Given the description of an element on the screen output the (x, y) to click on. 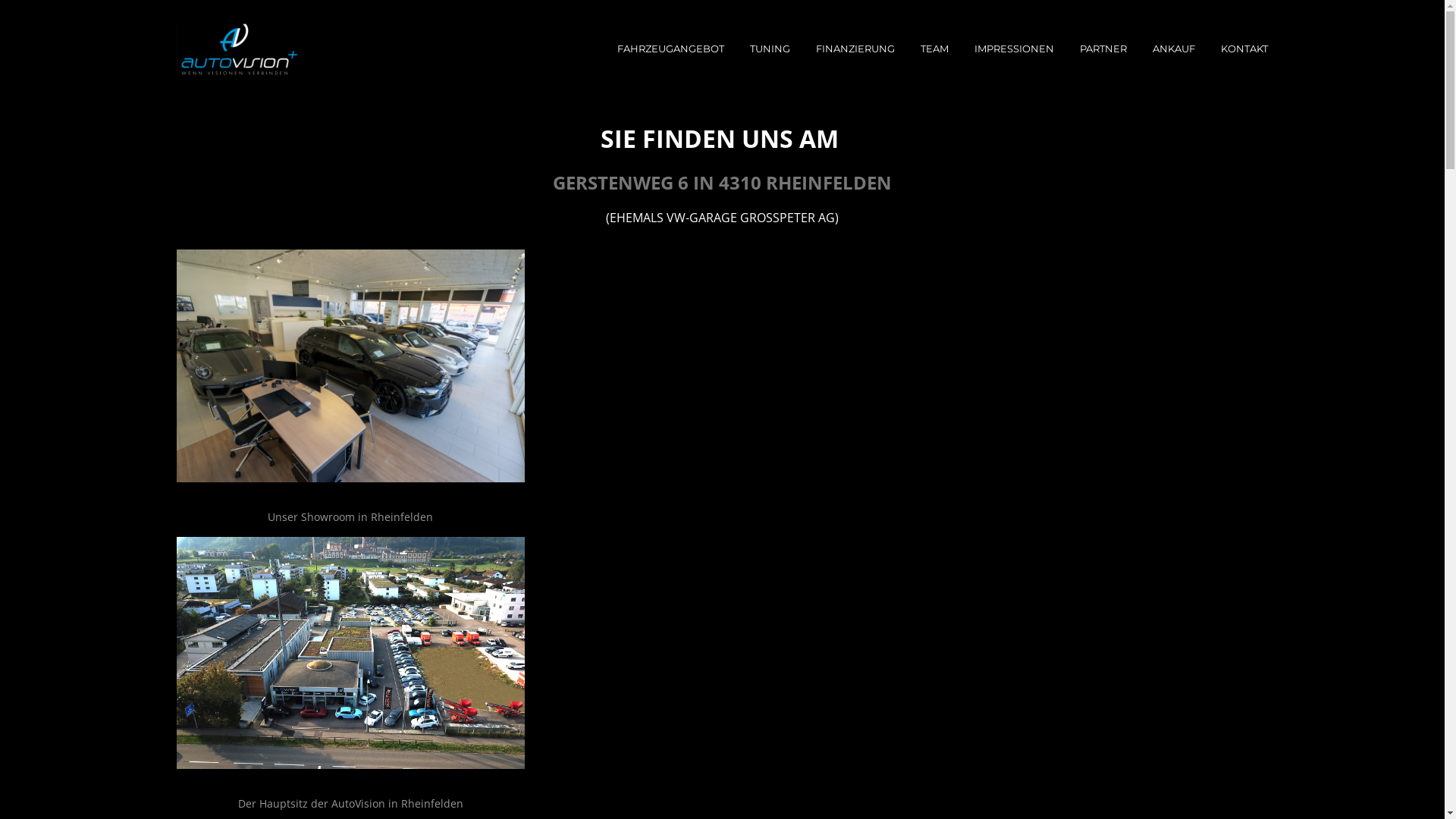
FAHRZEUGANGEBOT Element type: text (670, 49)
ANKAUF Element type: text (1173, 49)
IMPRESSIONEN Element type: text (1014, 49)
PARTNER Element type: text (1102, 49)
FINANZIERUNG Element type: text (854, 49)
TUNING Element type: text (769, 49)
TEAM Element type: text (934, 49)
GERSTENWEG 6 IN 4310 RHEINFELDEN Element type: text (721, 181)
KONTAKT Element type: text (1243, 49)
